Given the description of an element on the screen output the (x, y) to click on. 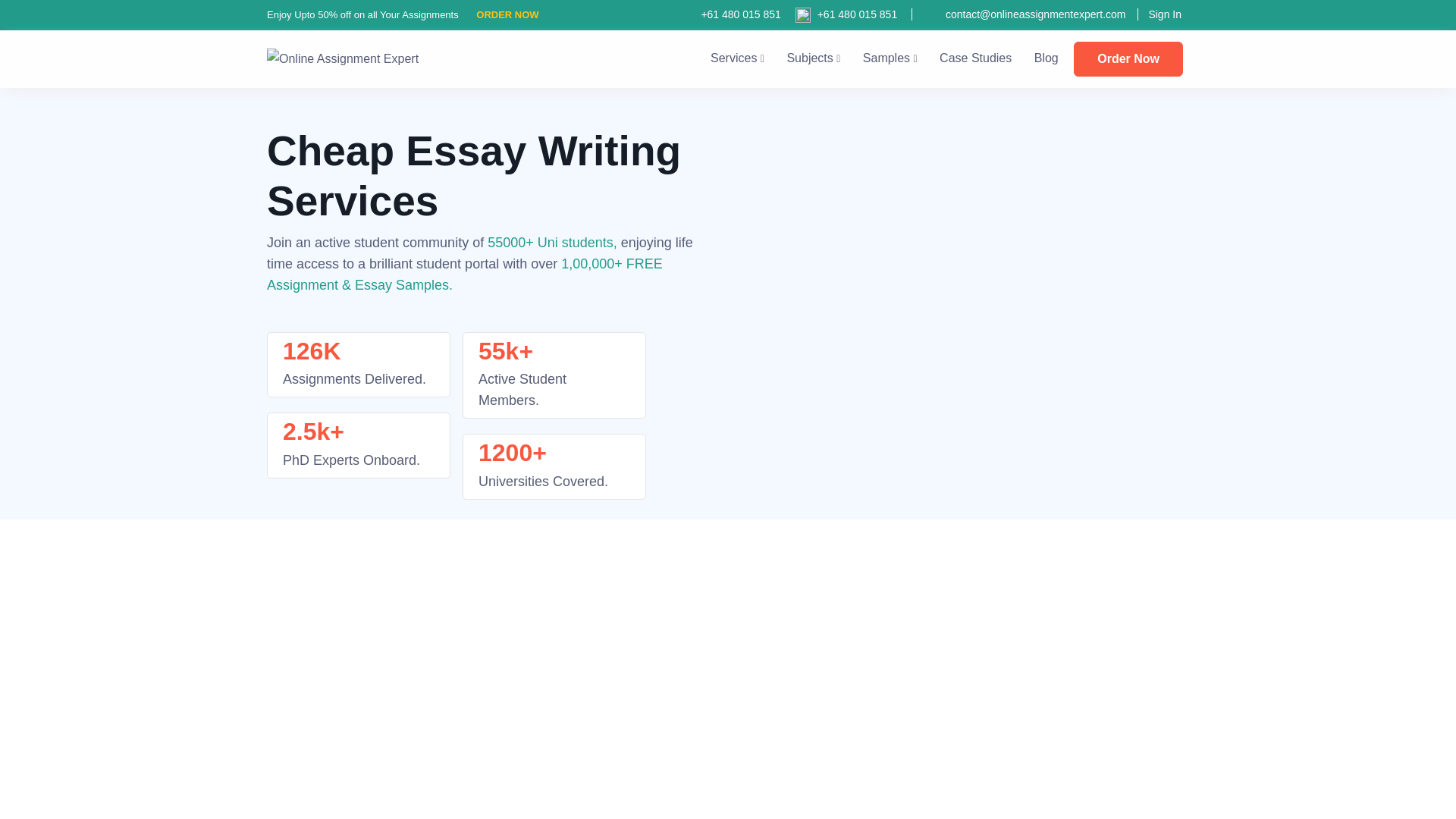
Sign In (1158, 14)
Subjects (813, 57)
Services (737, 57)
